Given the description of an element on the screen output the (x, y) to click on. 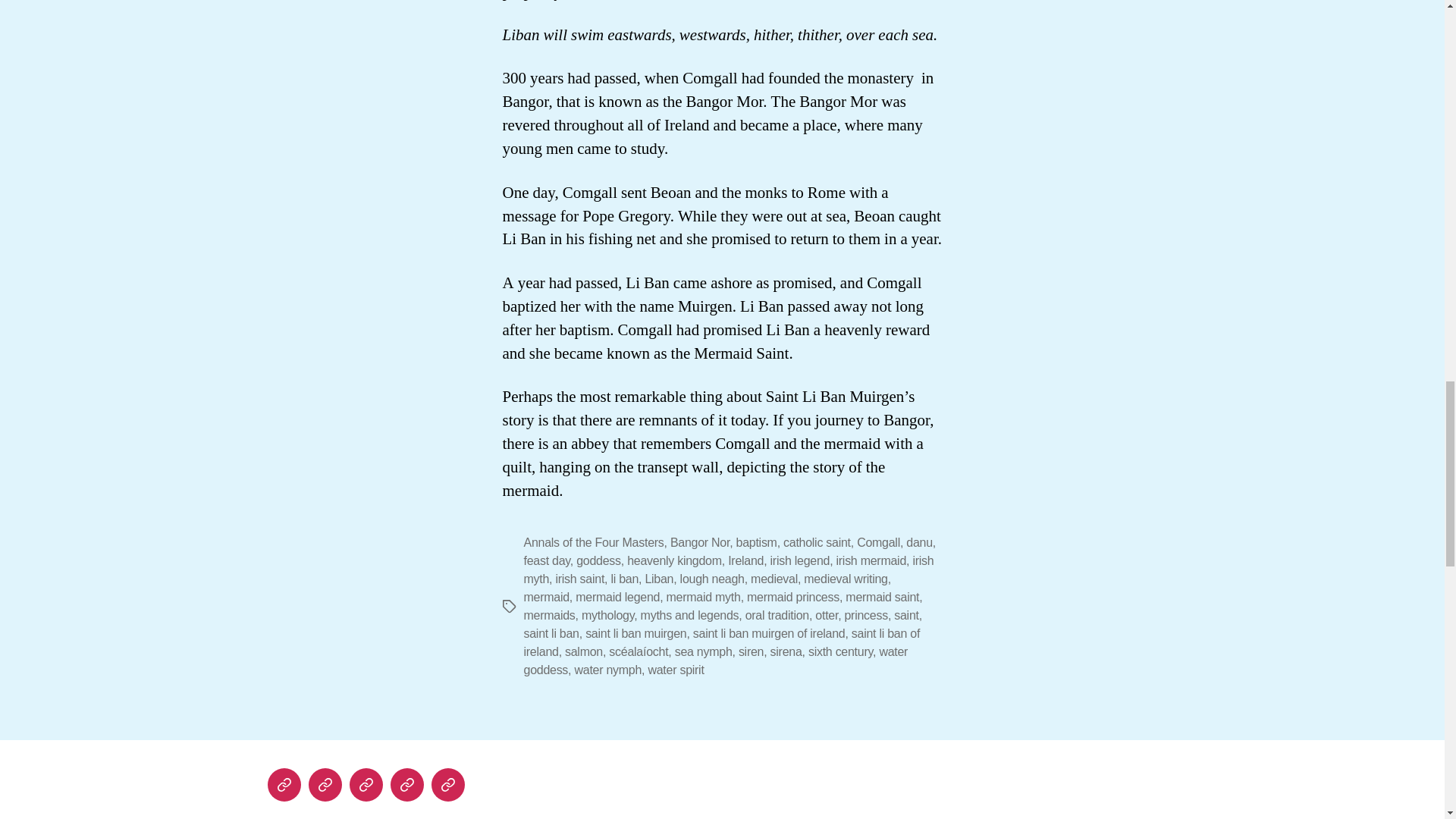
Ireland (745, 560)
heavenly kingdom (674, 560)
baptism (756, 542)
danu (919, 542)
feast day (545, 560)
myths and legends  (282, 784)
Annals of the Four Masters (592, 542)
Comgall (878, 542)
catholic saint (816, 542)
irish legend (799, 560)
